Given the description of an element on the screen output the (x, y) to click on. 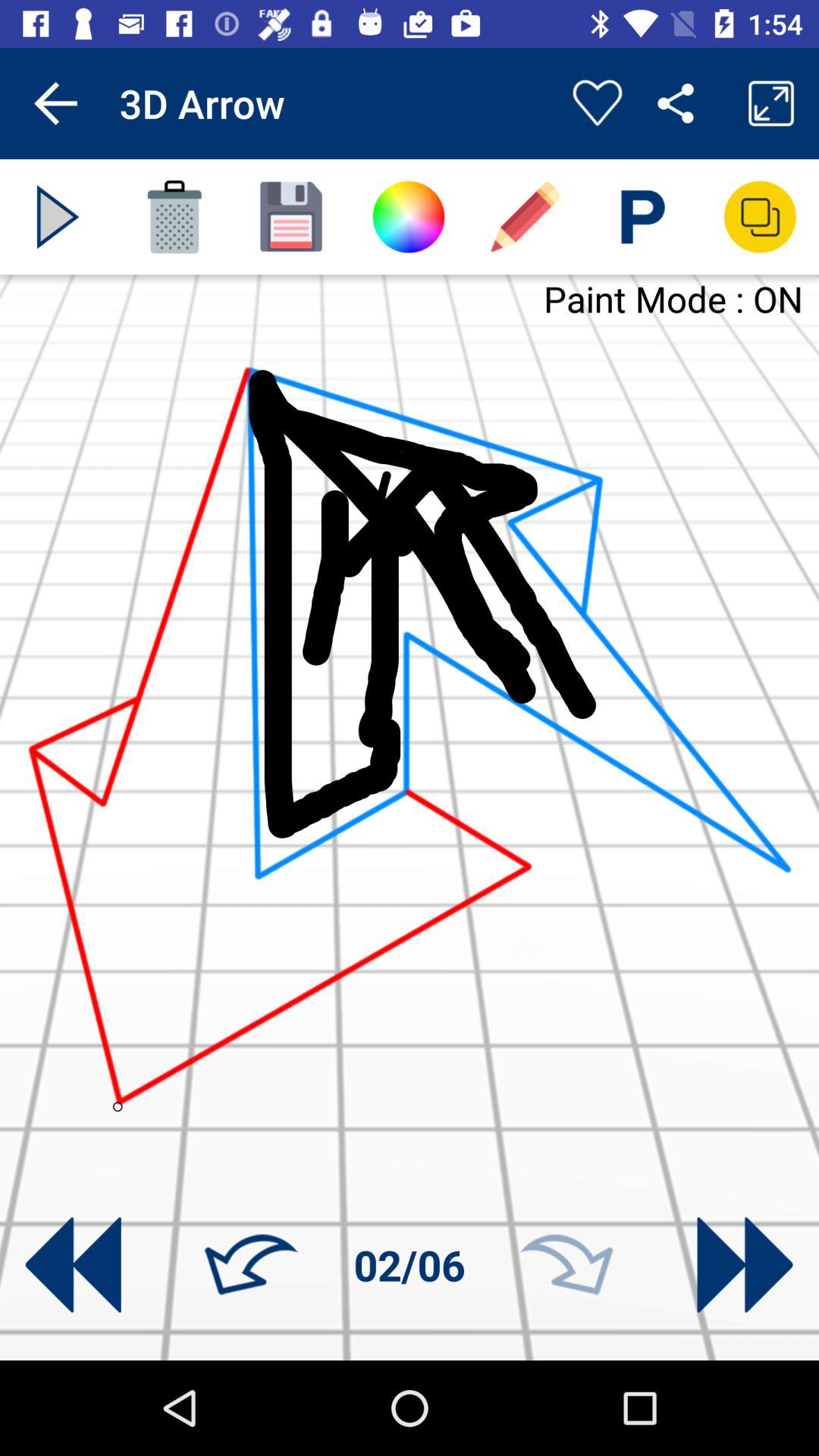
like button (597, 102)
